Given the description of an element on the screen output the (x, y) to click on. 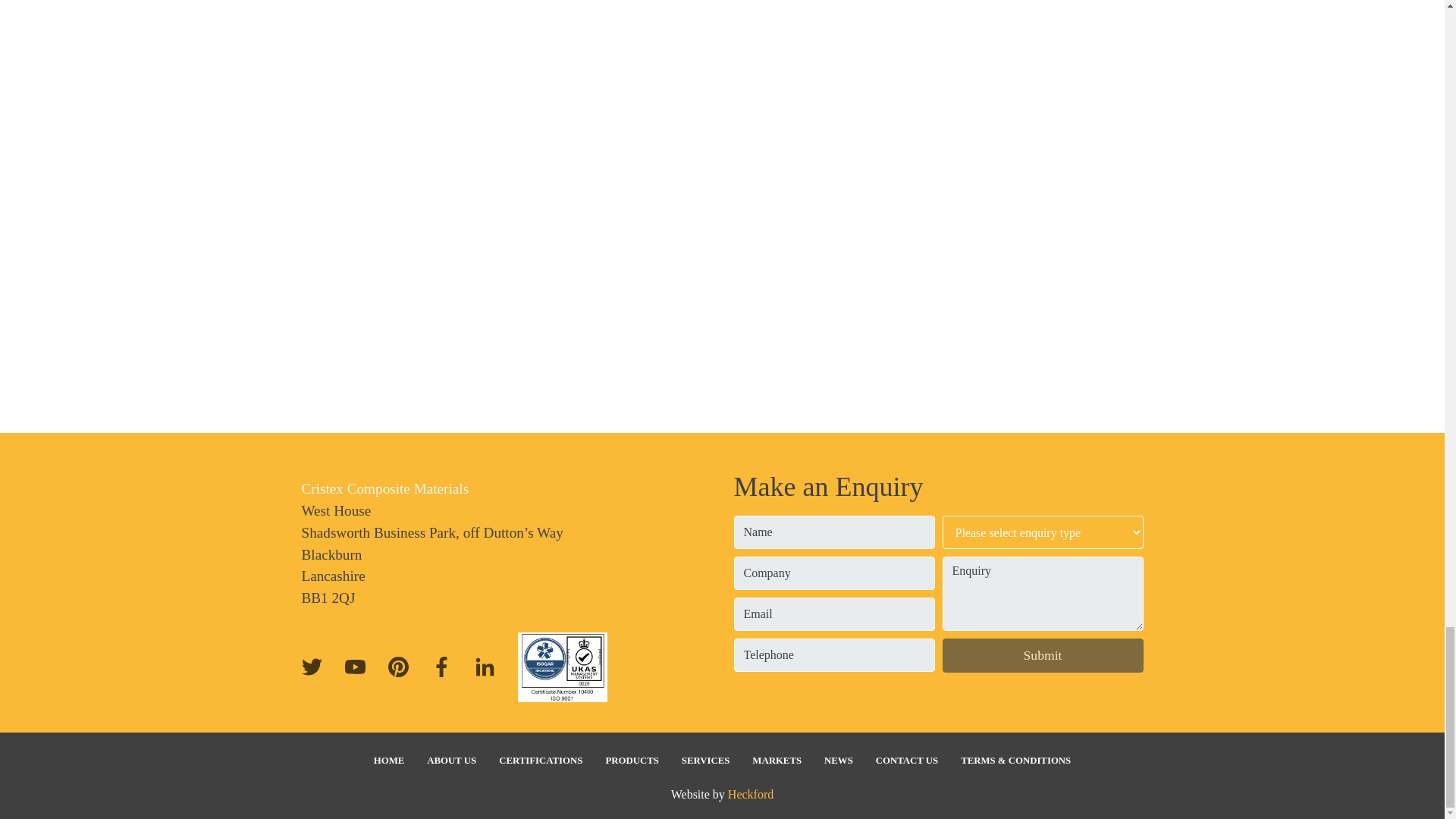
NEWS (838, 760)
CERTIFICATIONS (540, 760)
PRODUCTS (631, 760)
MARKETS (776, 760)
ABOUT US (450, 760)
SERVICES (705, 760)
HOME (389, 760)
Submit (1042, 654)
